Given the description of an element on the screen output the (x, y) to click on. 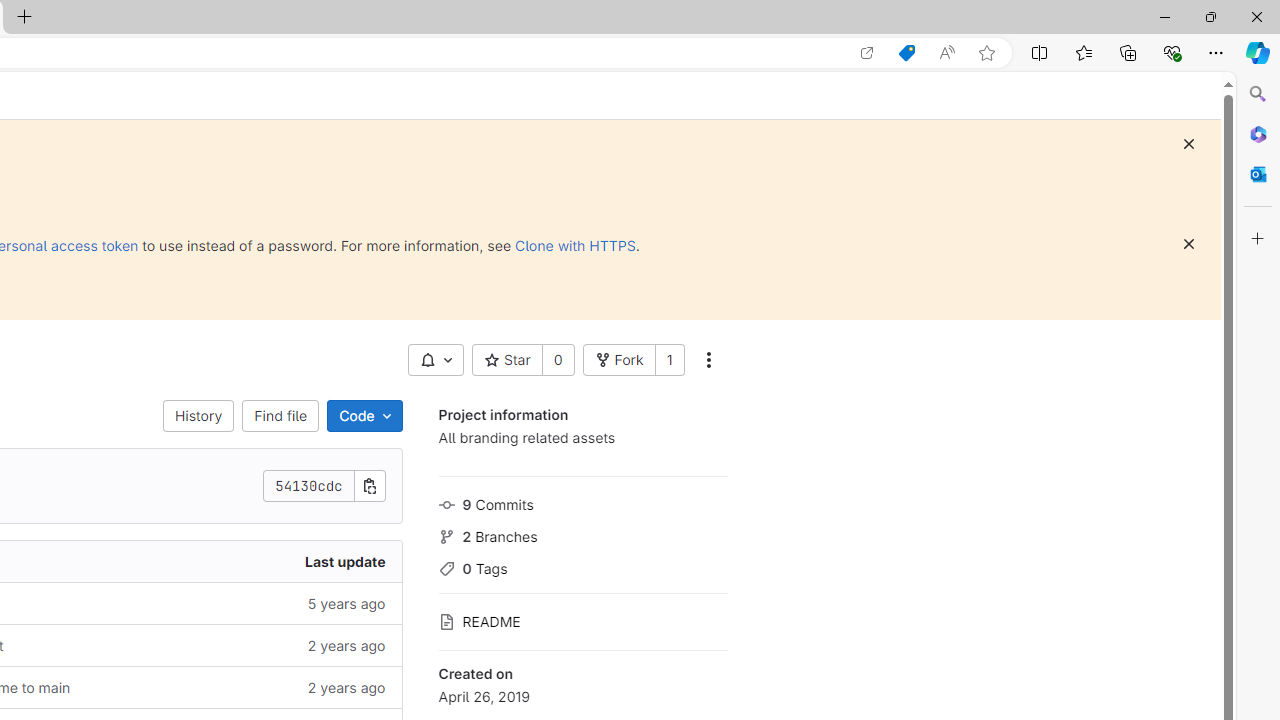
Fork (618, 359)
9 Commits (582, 502)
1 (669, 359)
0 (557, 359)
2 Branches (582, 534)
Class: s16 gl-icon gl-button-icon  (1188, 243)
2 years ago (247, 687)
0 Tags (582, 566)
Code (364, 416)
More actions (708, 359)
